Given the description of an element on the screen output the (x, y) to click on. 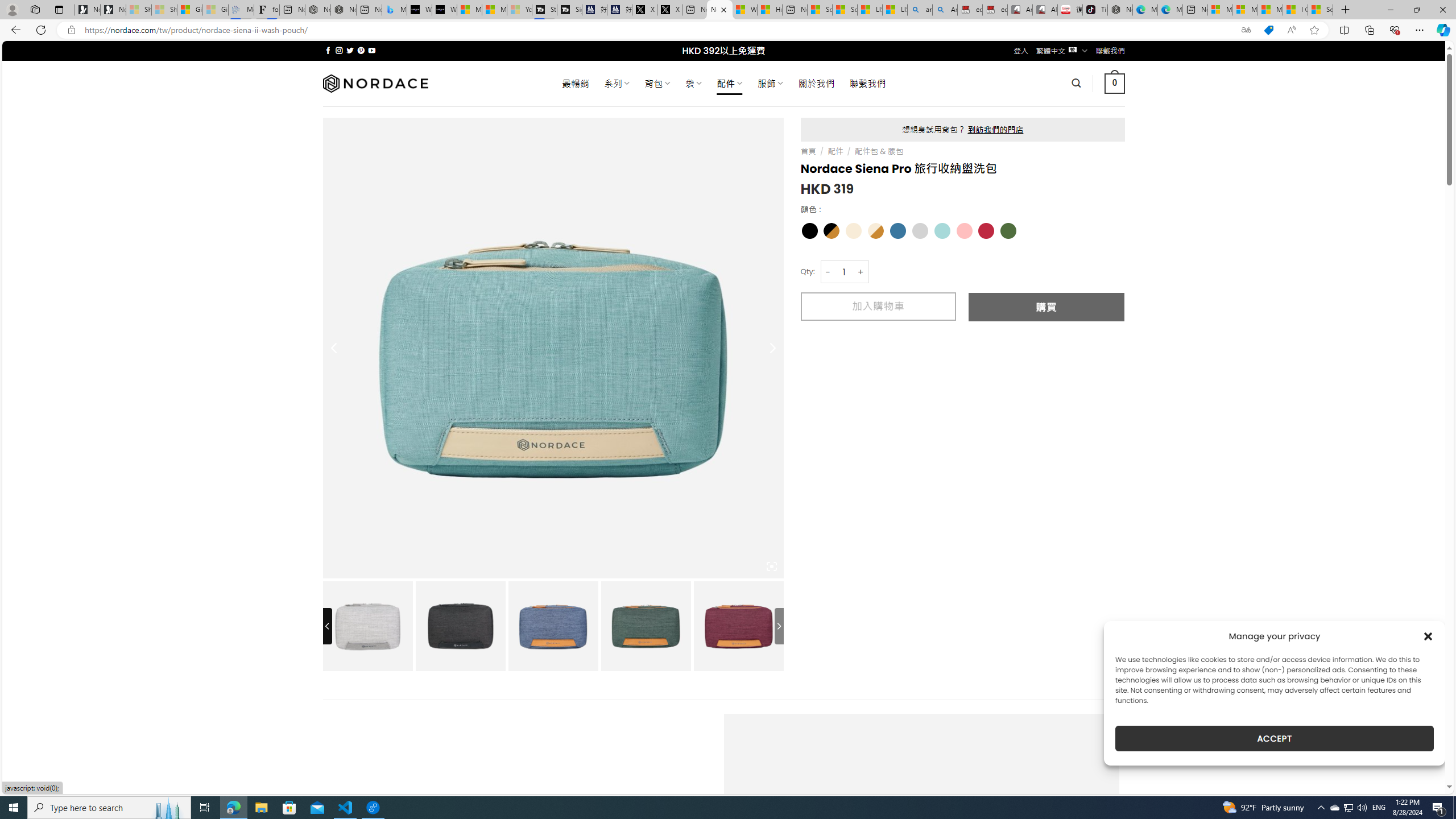
+ (861, 272)
Microsoft Start Sports (469, 9)
I Gained 20 Pounds of Muscle in 30 Days! | Watch (1295, 9)
Wildlife - MSN (744, 9)
Class: cmplz-close (1428, 636)
Amazon Echo Dot PNG - Search Images (944, 9)
